Given the description of an element on the screen output the (x, y) to click on. 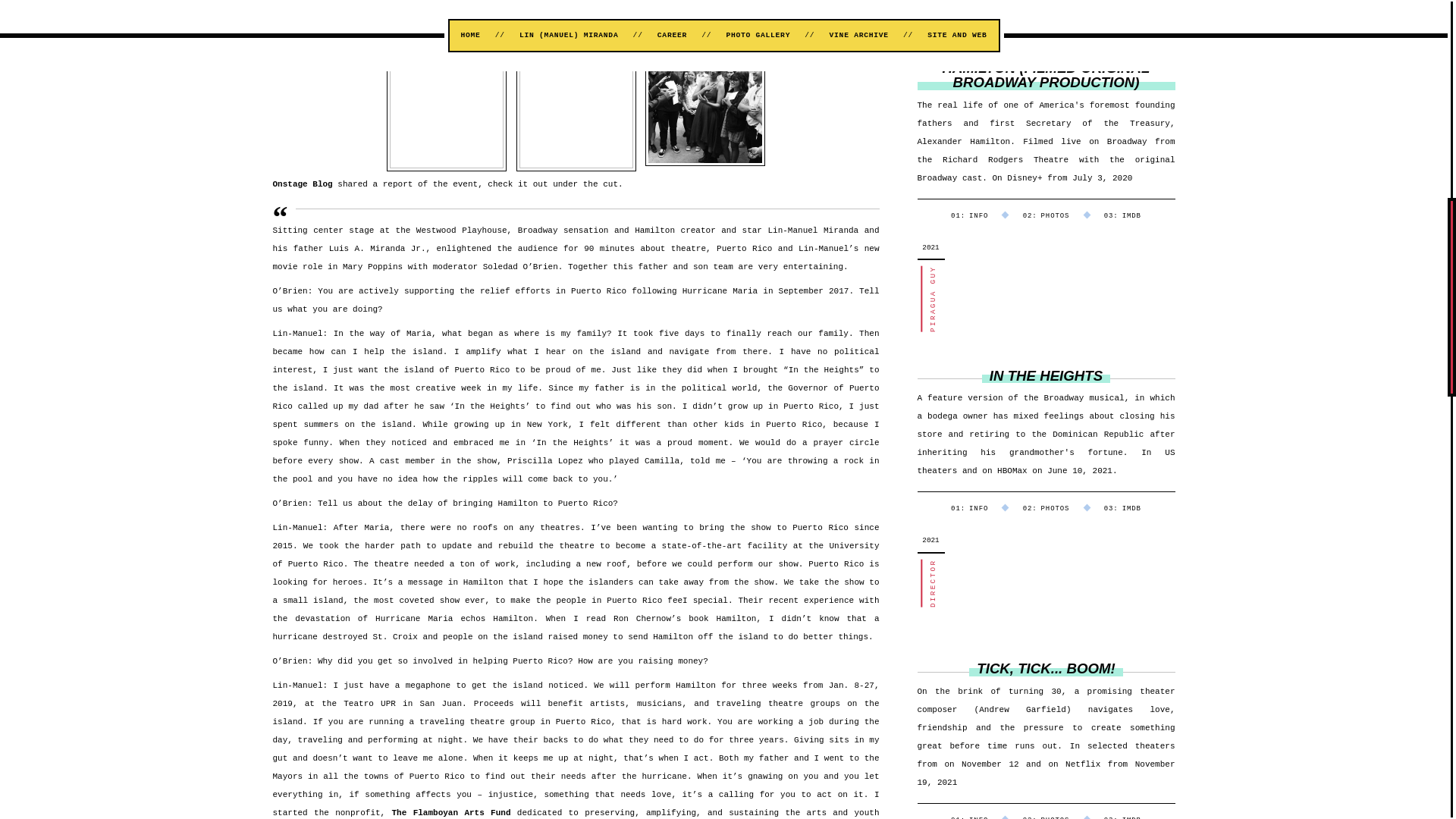
The Flamboyan Arts Fund (451, 812)
Onstage Blog (303, 184)
